Given the description of an element on the screen output the (x, y) to click on. 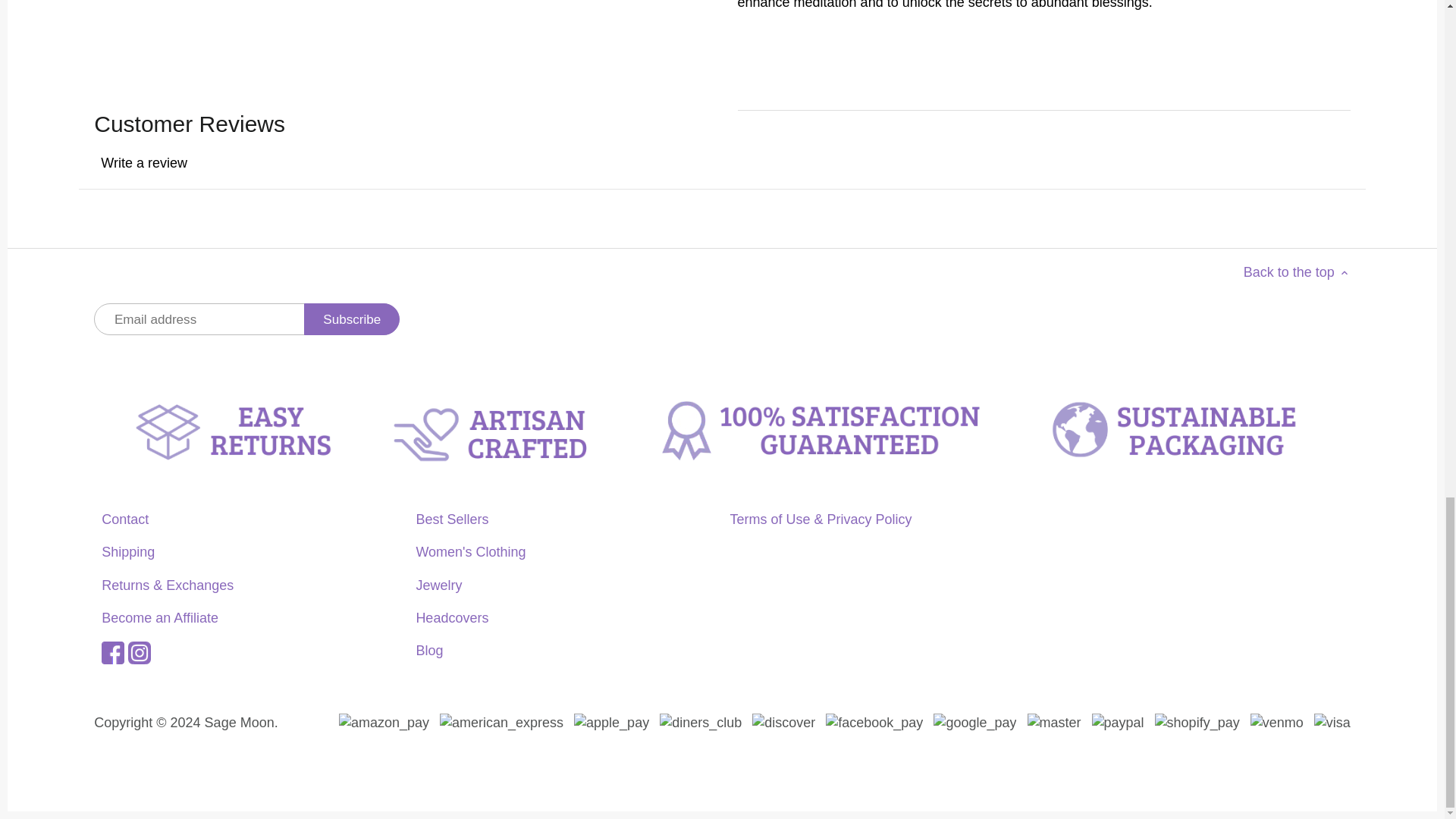
Jewelry (437, 585)
follow me on facebook (112, 650)
Become an affiliate! (159, 617)
Subscribe (351, 318)
follow me on instagram (139, 650)
Shipping (127, 551)
Blog (428, 650)
Headcovers (450, 617)
Women's Clothing (469, 551)
Best Sellers (450, 519)
